Given the description of an element on the screen output the (x, y) to click on. 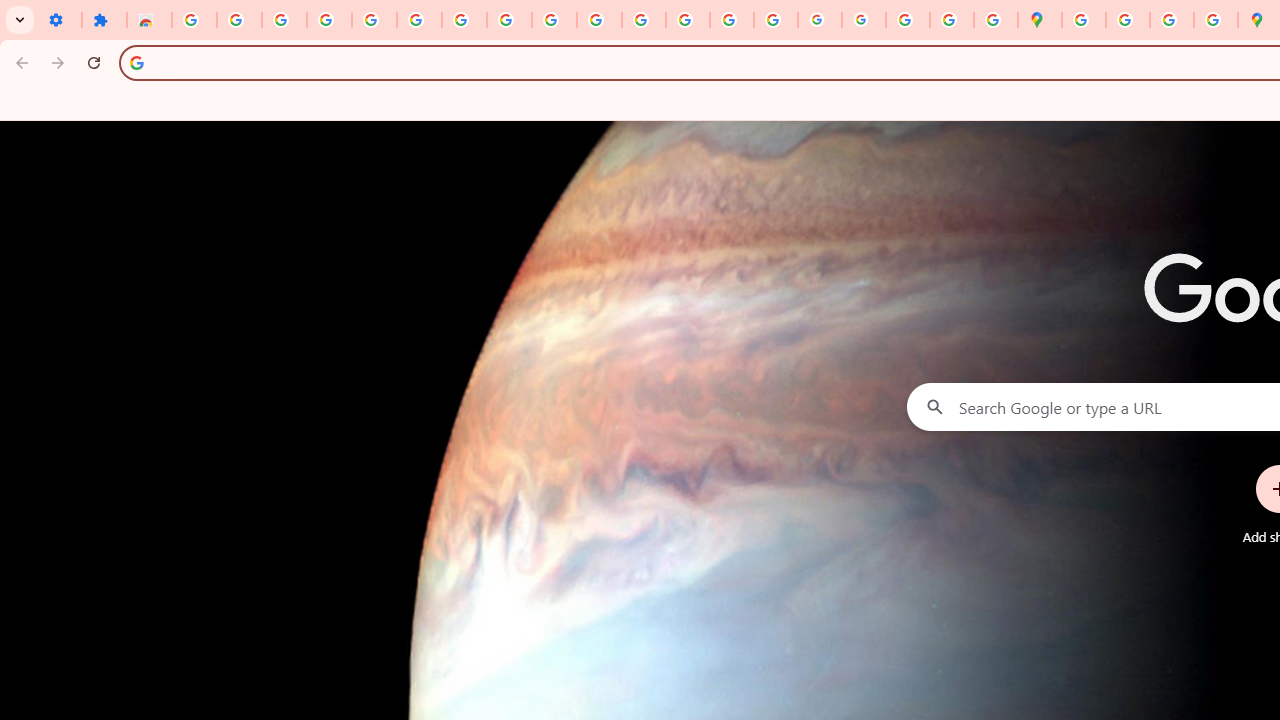
https://scholar.google.com/ (643, 20)
Sign in - Google Accounts (194, 20)
Sign in - Google Accounts (418, 20)
Reviews: Helix Fruit Jump Arcade Game (148, 20)
Delete photos & videos - Computer - Google Photos Help (284, 20)
YouTube (554, 20)
